Given the description of an element on the screen output the (x, y) to click on. 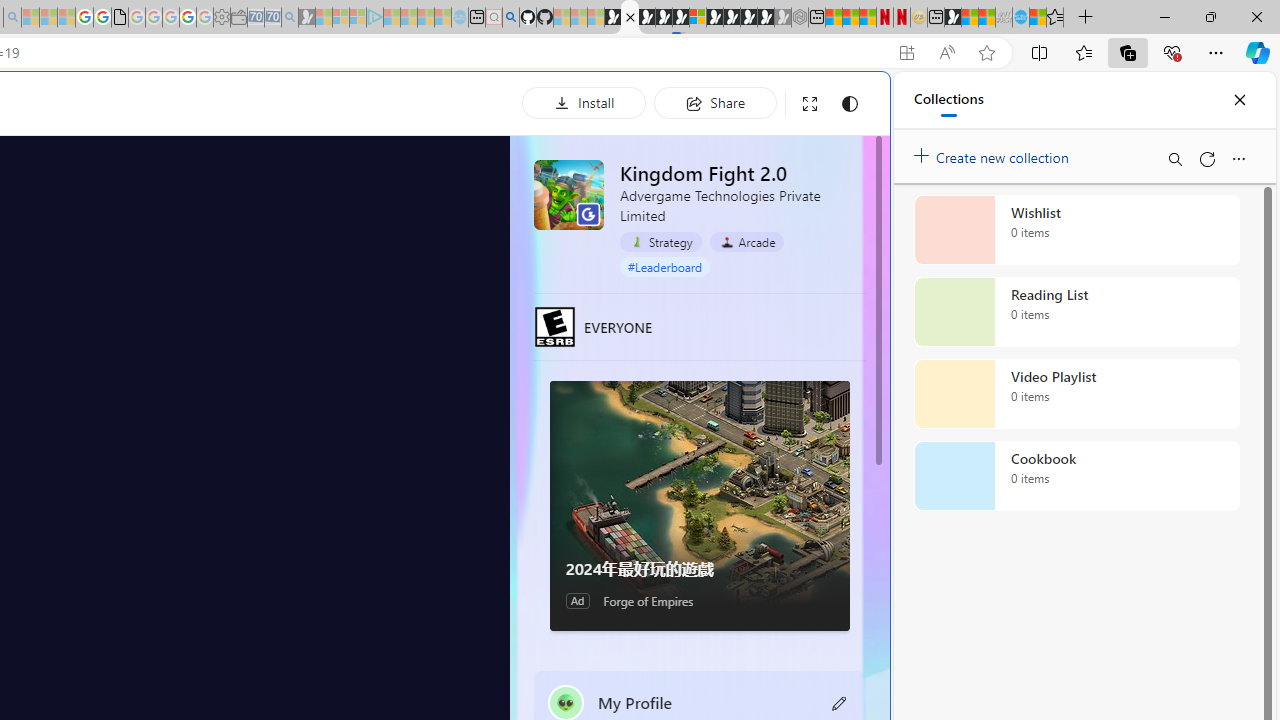
Video Playlist collection, 0 items (1076, 394)
Cookbook collection, 0 items (1076, 475)
App available. Install Kingdom Fight 2.0 (906, 53)
Frequently visited (418, 265)
Play Cave FRVR in your browser | Games from Microsoft Start (343, 426)
Sign in to your account (697, 17)
